Given the description of an element on the screen output the (x, y) to click on. 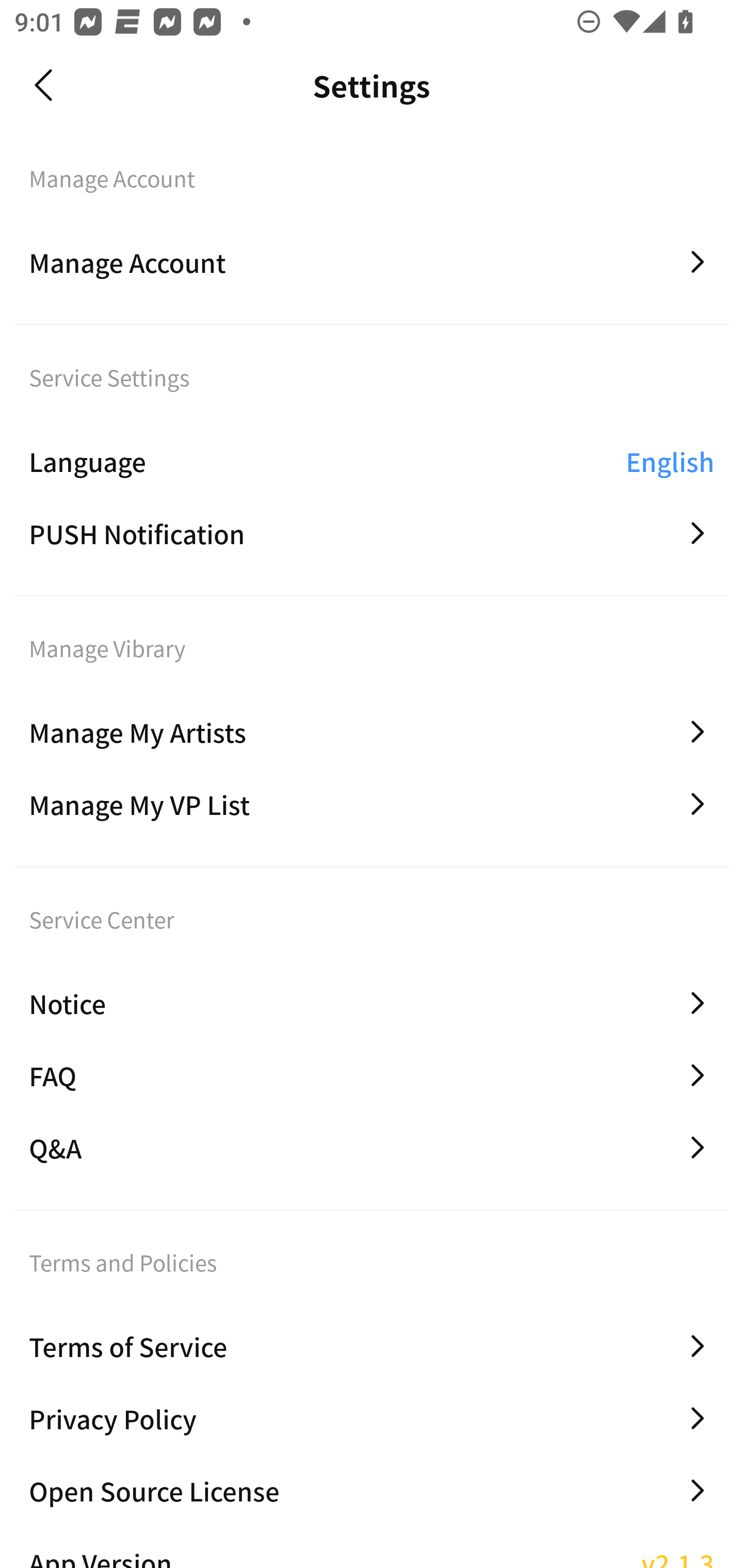
Manage Account (371, 261)
Language English (371, 460)
PUSH Notification (371, 533)
Manage My Artists (371, 732)
Manage My VP List (371, 804)
Notice (371, 1003)
FAQ (371, 1075)
Q&A (371, 1147)
Terms of Service (371, 1345)
Privacy Policy (371, 1418)
Open Source License (371, 1490)
App Version v2.1.3 (371, 1549)
